Given the description of an element on the screen output the (x, y) to click on. 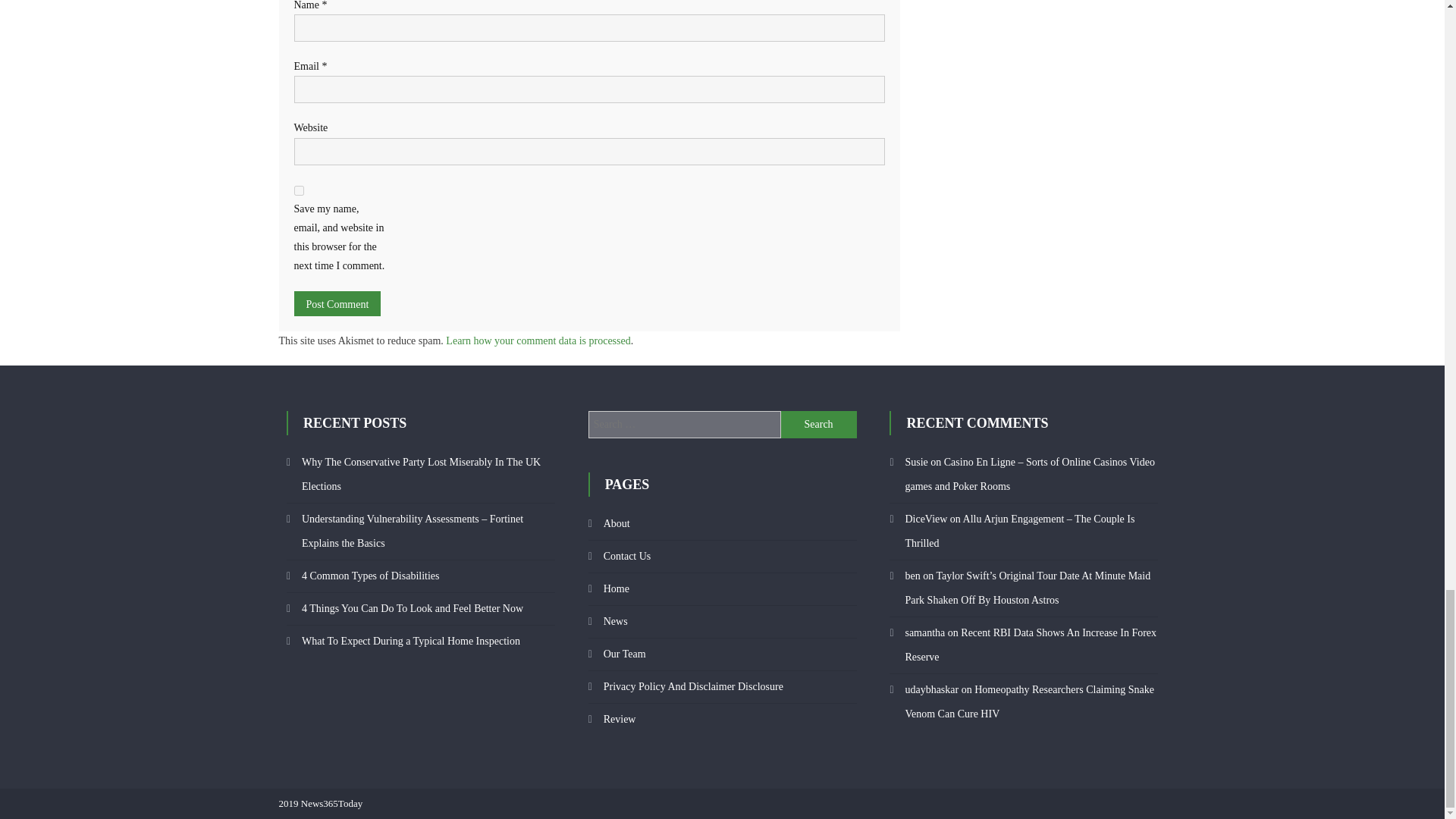
Search (818, 424)
Search (818, 424)
Post Comment (337, 303)
yes (299, 190)
